Given the description of an element on the screen output the (x, y) to click on. 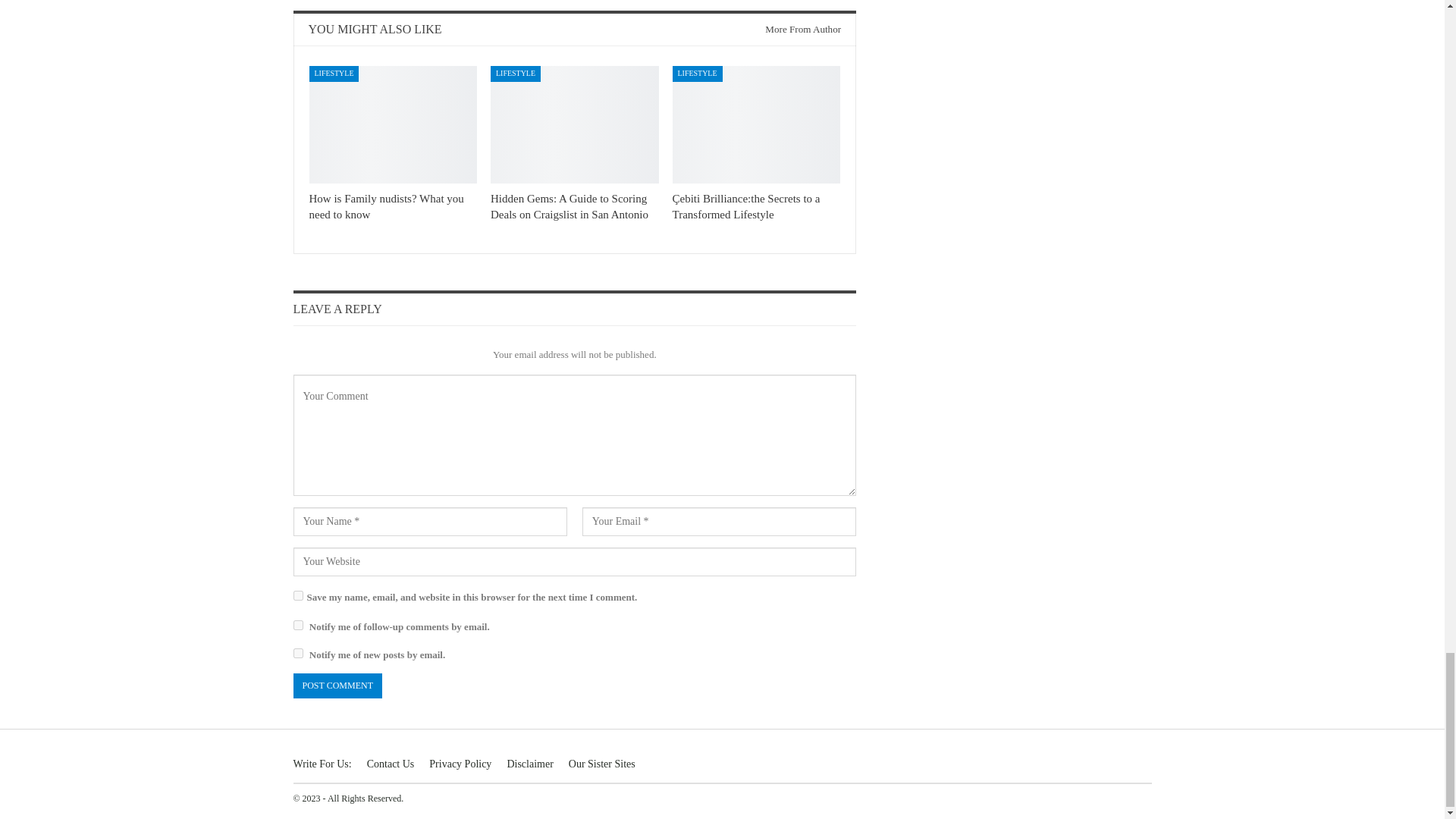
subscribe (297, 624)
Post Comment (336, 685)
subscribe (297, 653)
yes (297, 595)
